Given the description of an element on the screen output the (x, y) to click on. 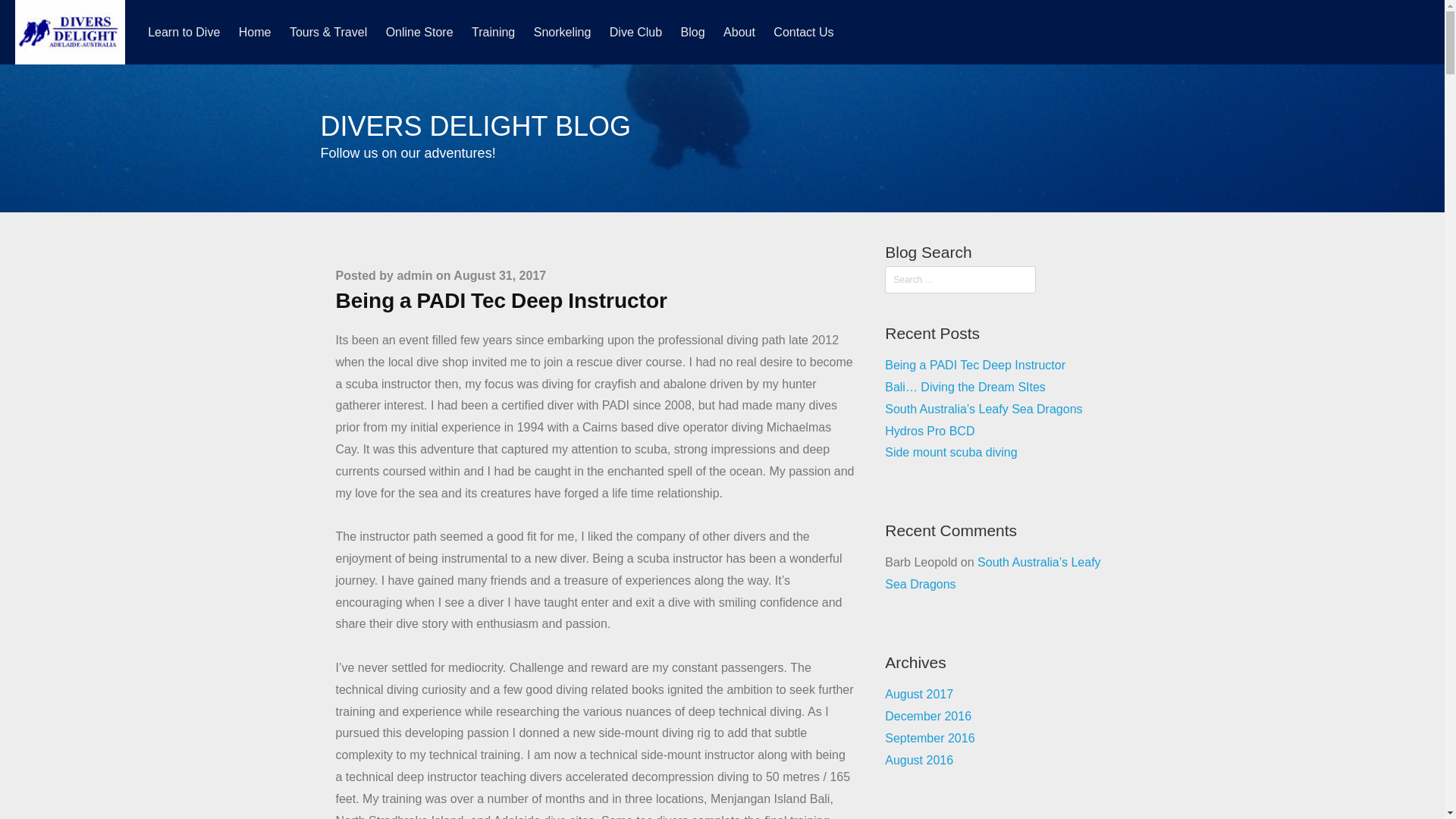
Tours & Travel Element type: text (328, 31)
Contact Us Element type: text (802, 31)
Online Store Element type: text (419, 31)
Search Element type: text (37, 15)
Learn to Dive Element type: text (183, 31)
Side mount scuba diving Element type: text (950, 451)
August 2017 Element type: text (918, 693)
Search for: Element type: hover (959, 279)
Training Element type: text (493, 31)
December 2016 Element type: text (927, 715)
Blog Element type: text (692, 31)
August 2016 Element type: text (918, 759)
About Element type: text (738, 31)
September 2016 Element type: text (929, 737)
Snorkeling Element type: text (562, 31)
Being a PADI Tec Deep Instructor Element type: text (974, 364)
Dive Club Element type: text (635, 31)
Hydros Pro BCD Element type: text (929, 430)
Home Element type: text (255, 31)
Being a PADI Tec Deep Instructor Element type: text (500, 300)
